Given the description of an element on the screen output the (x, y) to click on. 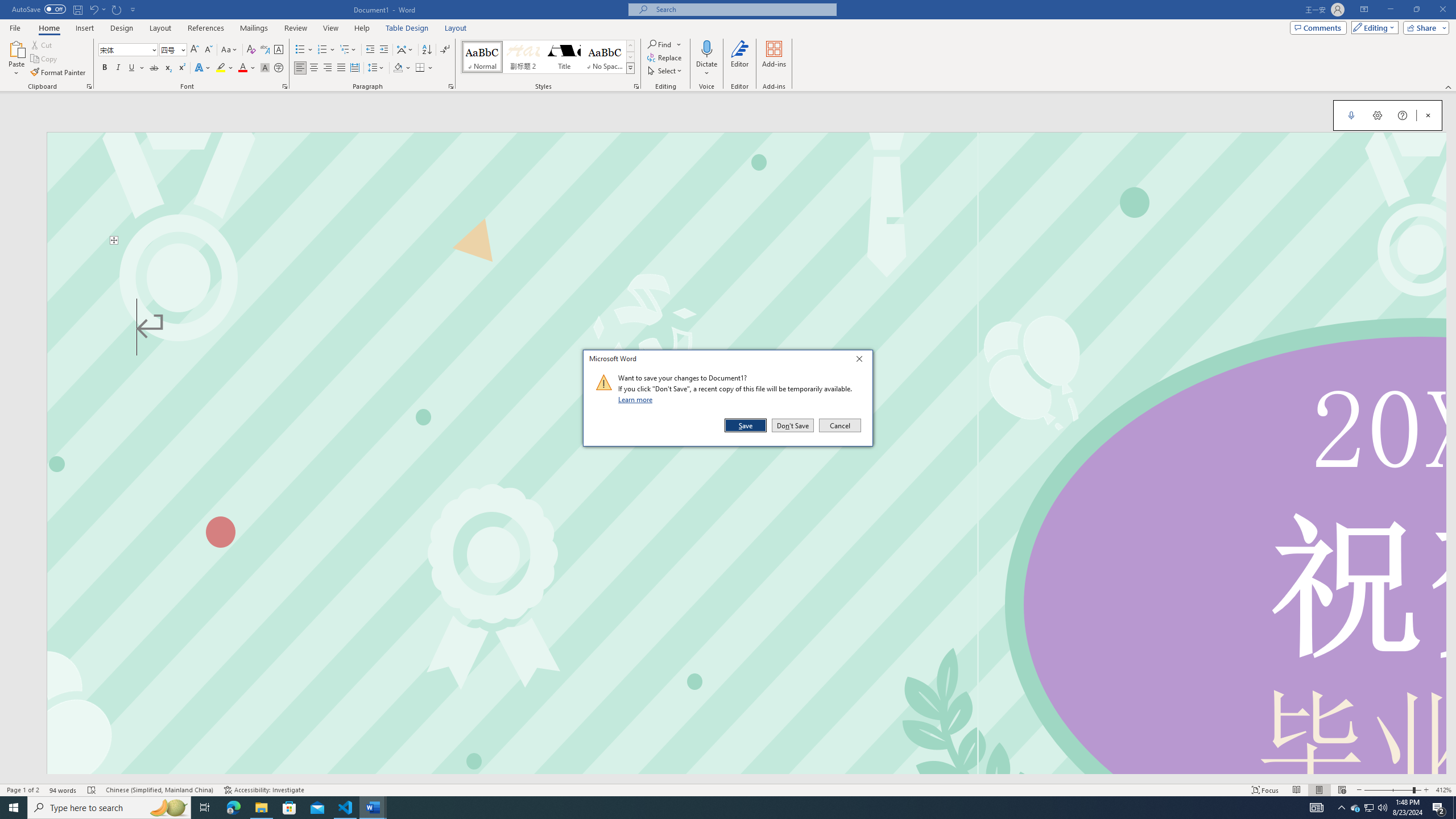
Cancel (839, 425)
Repeat Text Fill Effect (117, 9)
